Given the description of an element on the screen output the (x, y) to click on. 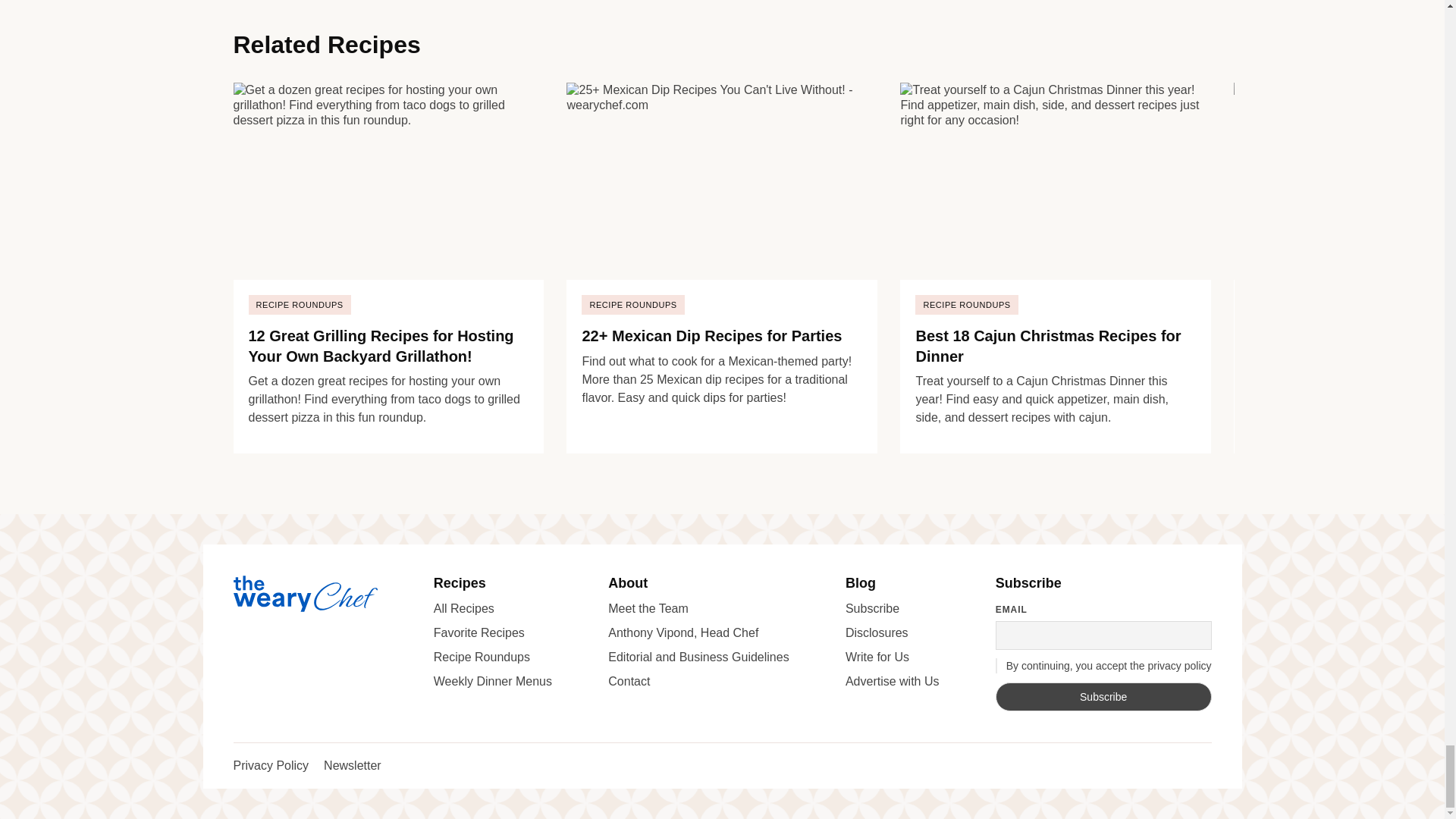
Subscribe (1103, 696)
